Given the description of an element on the screen output the (x, y) to click on. 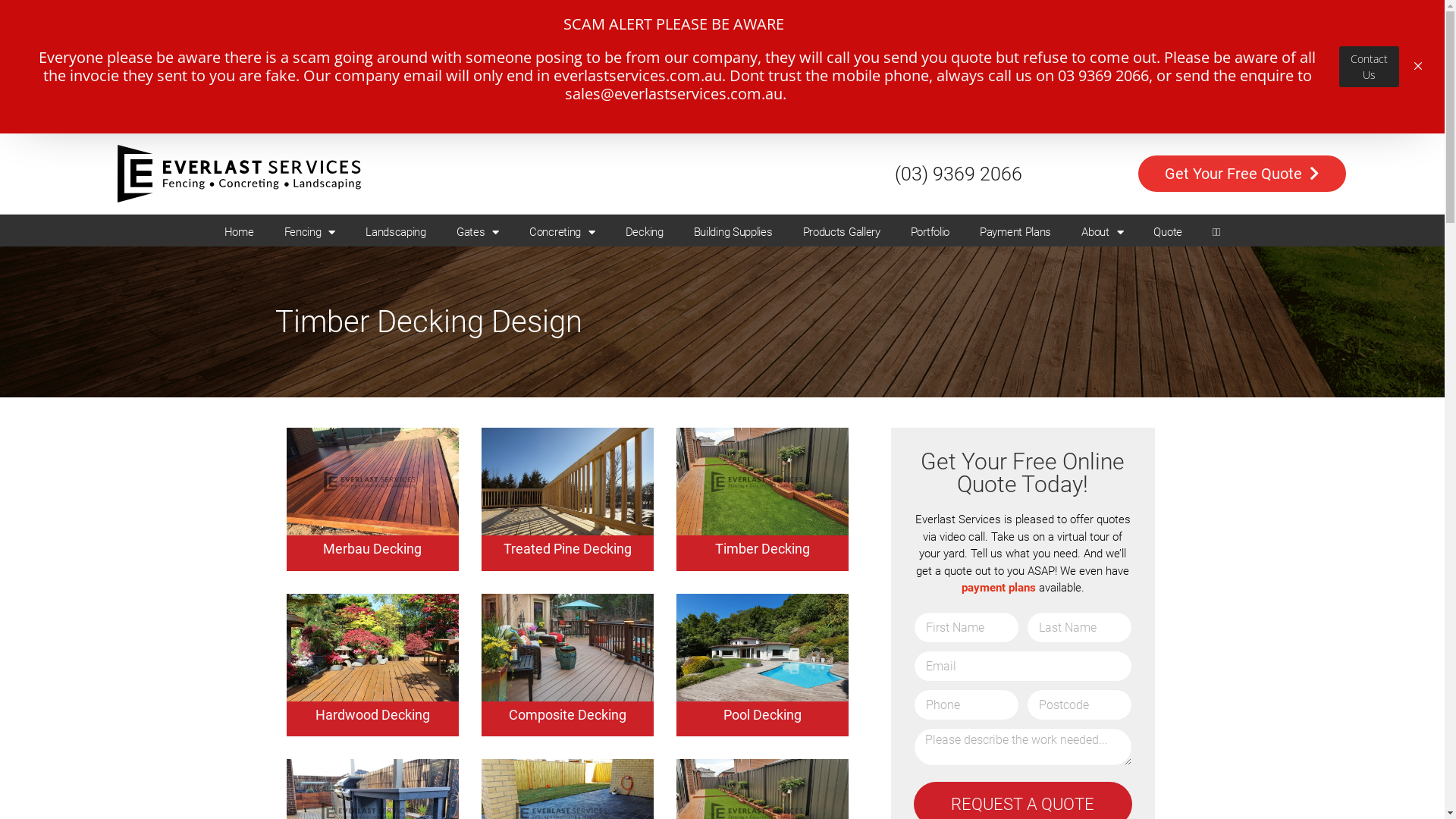
Treated Pine Decking Element type: text (567, 415)
Home Element type: text (239, 98)
Gates Element type: text (477, 98)
(03) 9369 2066 Element type: text (958, 39)
Composite decking Melbourne Element type: hover (567, 647)
Landscaping Element type: text (395, 98)
Merbau Decking Element type: text (372, 415)
Portfolio Element type: text (929, 98)
Get Your Free Quote Element type: text (1242, 39)
About Element type: text (1102, 98)
Building Supplies Element type: text (732, 98)
Fencing Element type: text (310, 98)
Treated-pine-decking Element type: hover (567, 481)
Concreting Element type: text (562, 98)
payment plans Element type: text (998, 587)
Pool-decking-deck-building Element type: hover (762, 647)
Hardwood Decking Element type: text (372, 581)
Blackbutt Decking Element type: text (762, 746)
Payment Plans Element type: text (1015, 98)
Outdoor Decking Element type: text (372, 746)
Quote Element type: text (1167, 98)
Decking Designs Element type: text (567, 746)
Timber Decking Element type: text (762, 415)
Composite Decking Element type: text (567, 581)
Decking Element type: text (644, 98)
Products Gallery Element type: text (841, 98)
Hardwood-decking Element type: hover (372, 647)
Pool Decking Element type: text (762, 581)
